Given the description of an element on the screen output the (x, y) to click on. 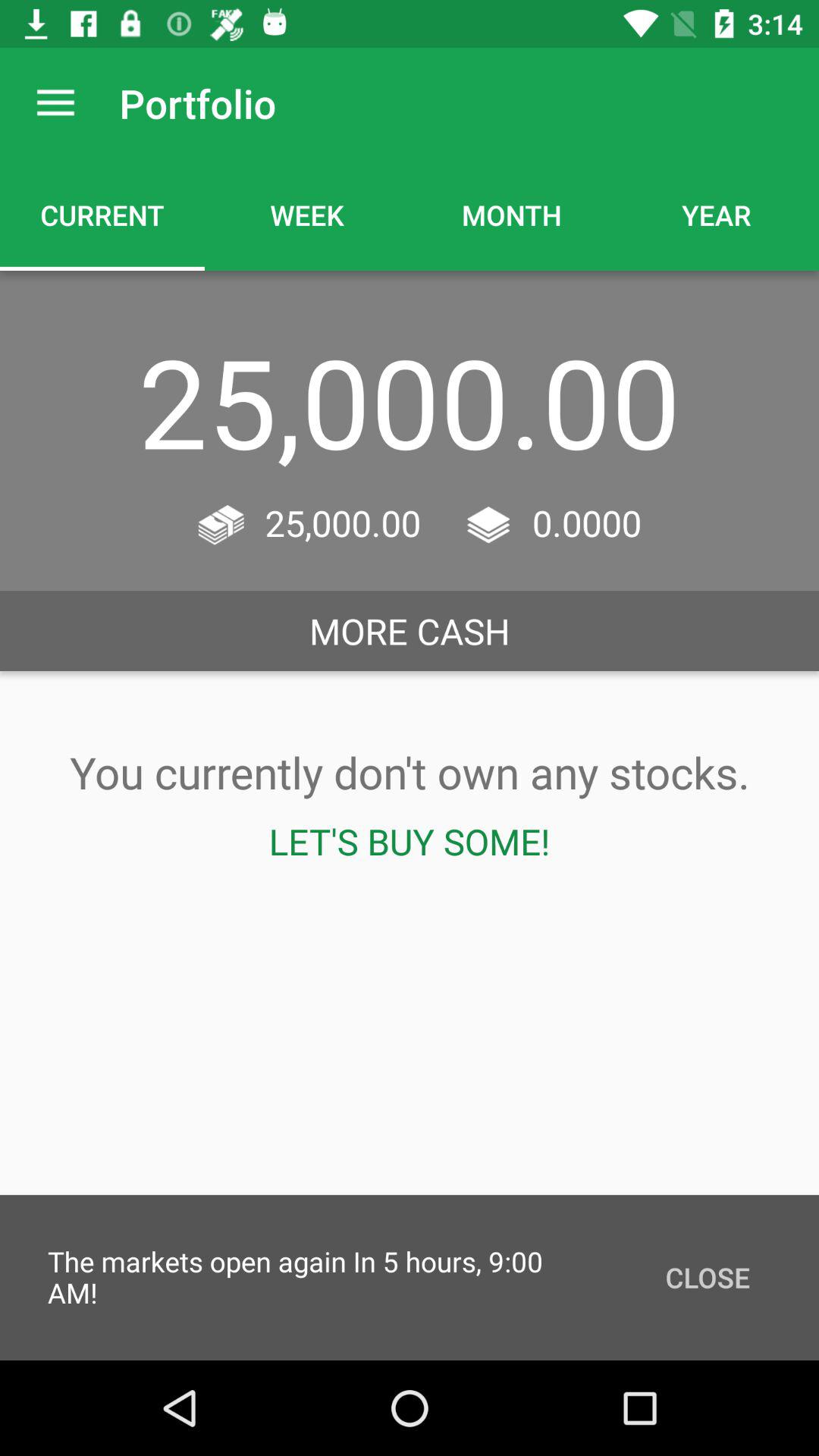
swipe until the more cash icon (409, 630)
